Given the description of an element on the screen output the (x, y) to click on. 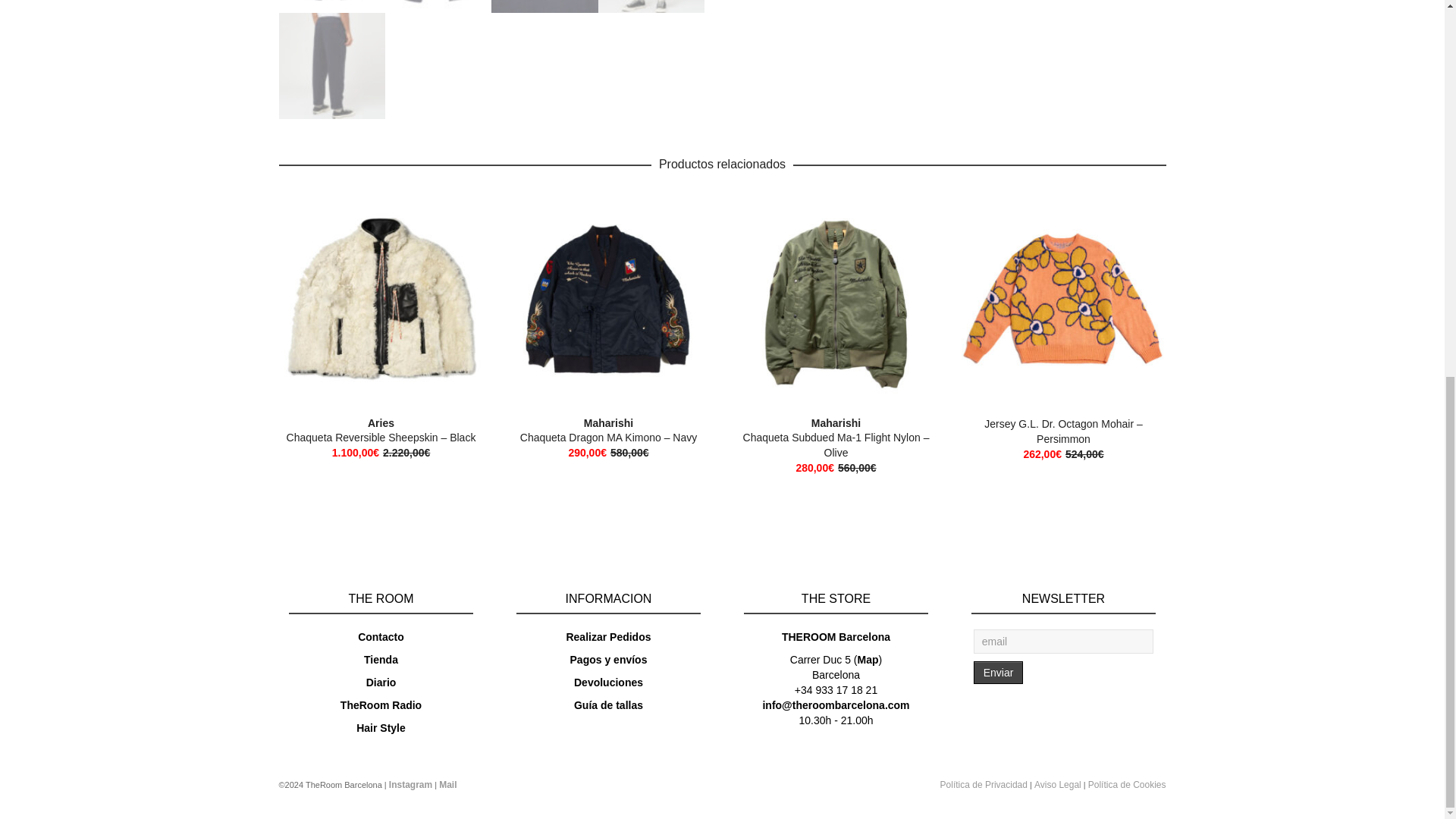
Enviar (998, 671)
